Given the description of an element on the screen output the (x, y) to click on. 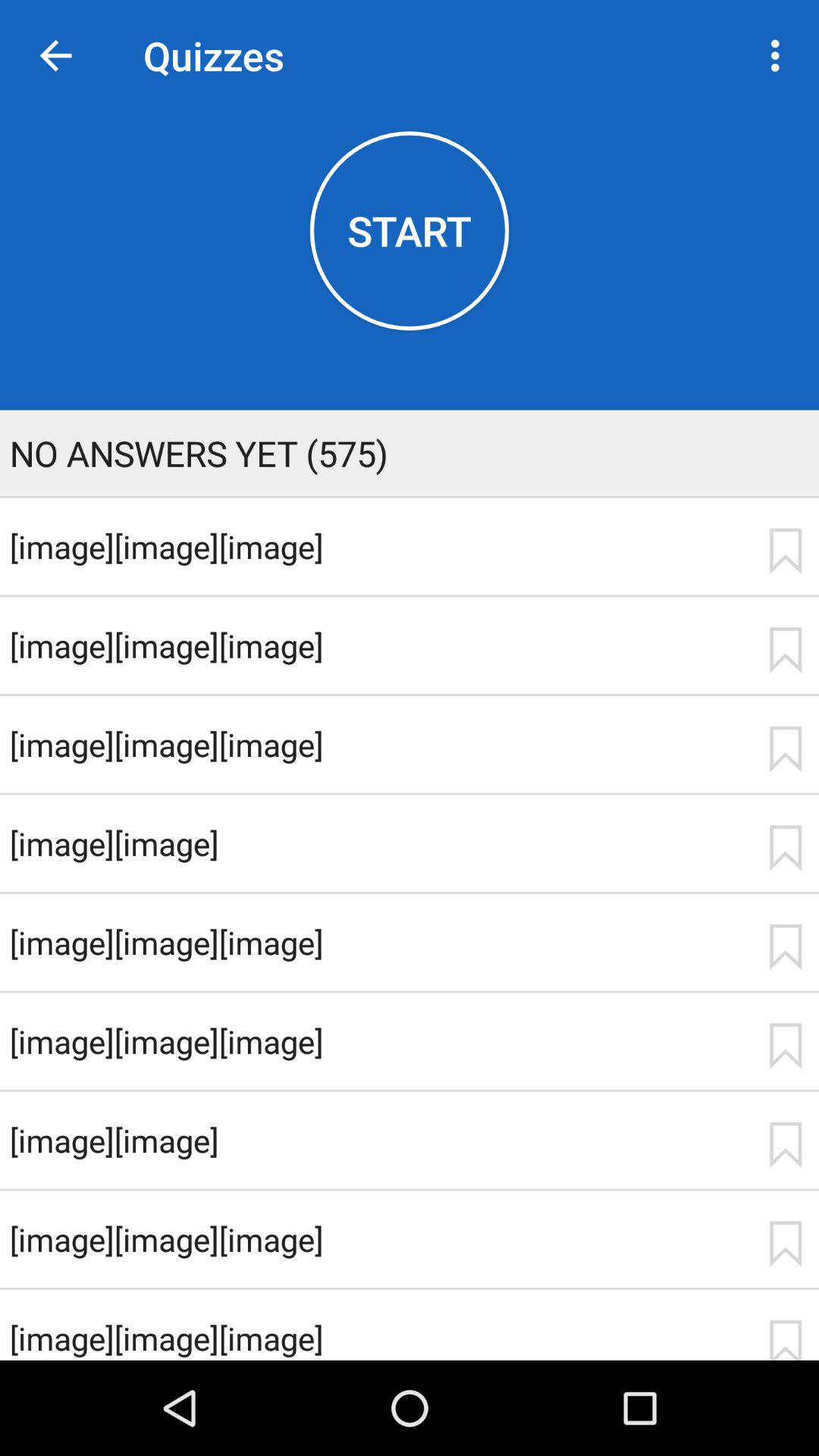
bookmark item (784, 749)
